Given the description of an element on the screen output the (x, y) to click on. 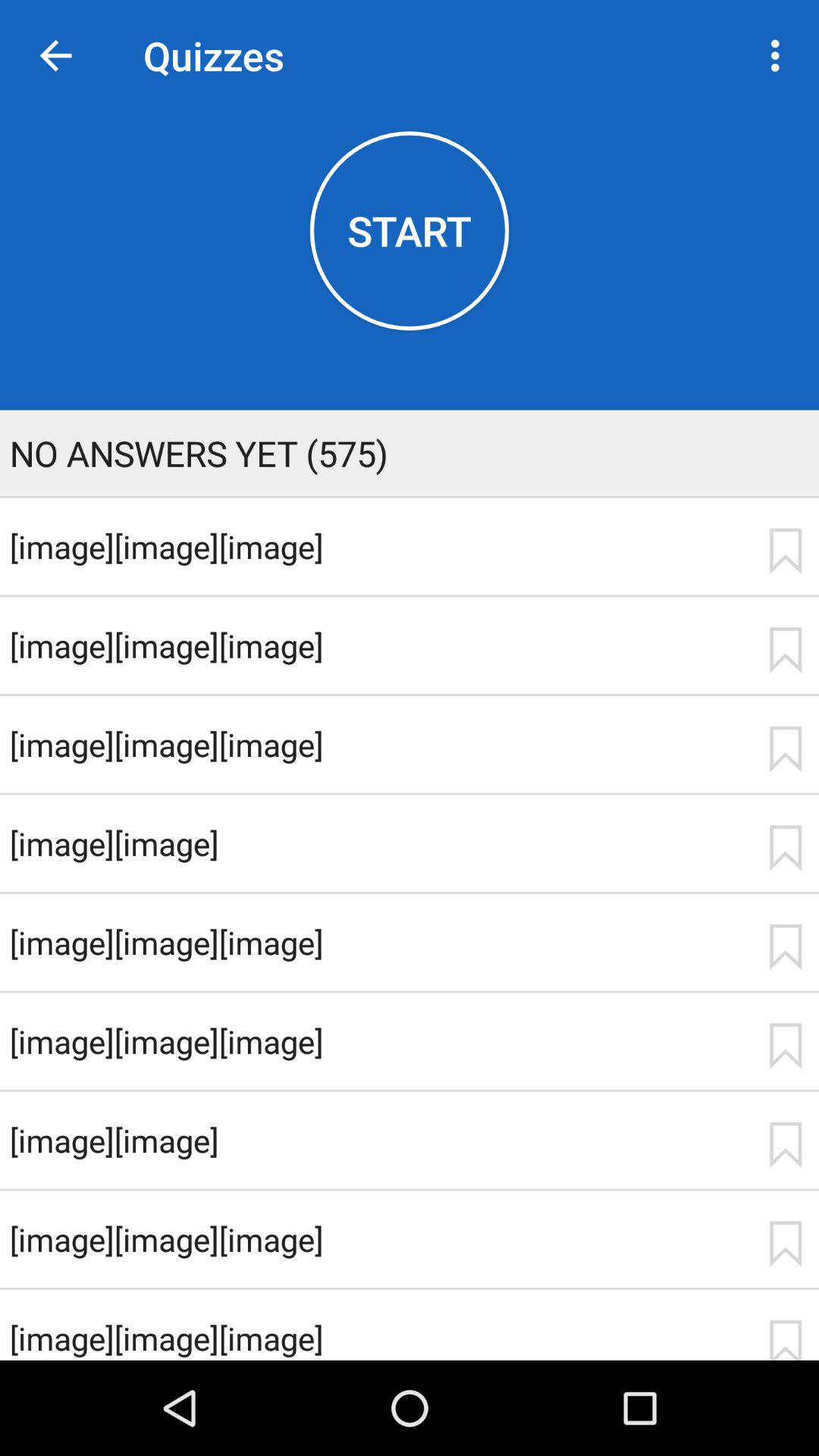
bookmark item (784, 749)
